Given the description of an element on the screen output the (x, y) to click on. 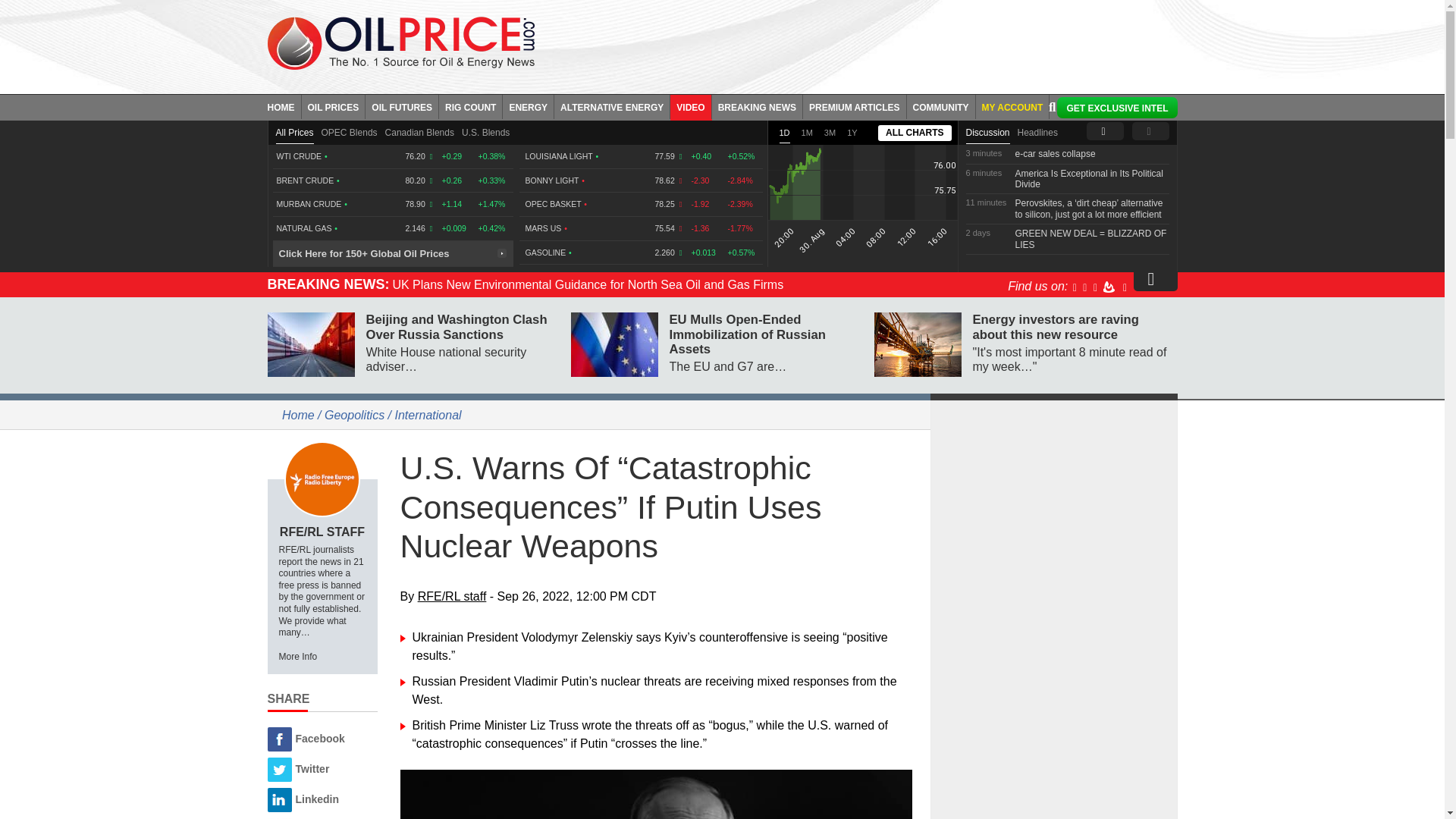
ALTERNATIVE ENERGY (611, 106)
ENERGY (528, 106)
RIG COUNT (470, 106)
OIL PRICES (333, 106)
PREMIUM ARTICLES (855, 106)
MY ACCOUNT (1012, 106)
EU Mulls Open-Ended Immobilization of Russian Assets (614, 344)
Beijing and Washington Clash Over Russia Sanctions (309, 344)
Oil prices - Oilprice.com (400, 42)
HOME (283, 106)
